Given the description of an element on the screen output the (x, y) to click on. 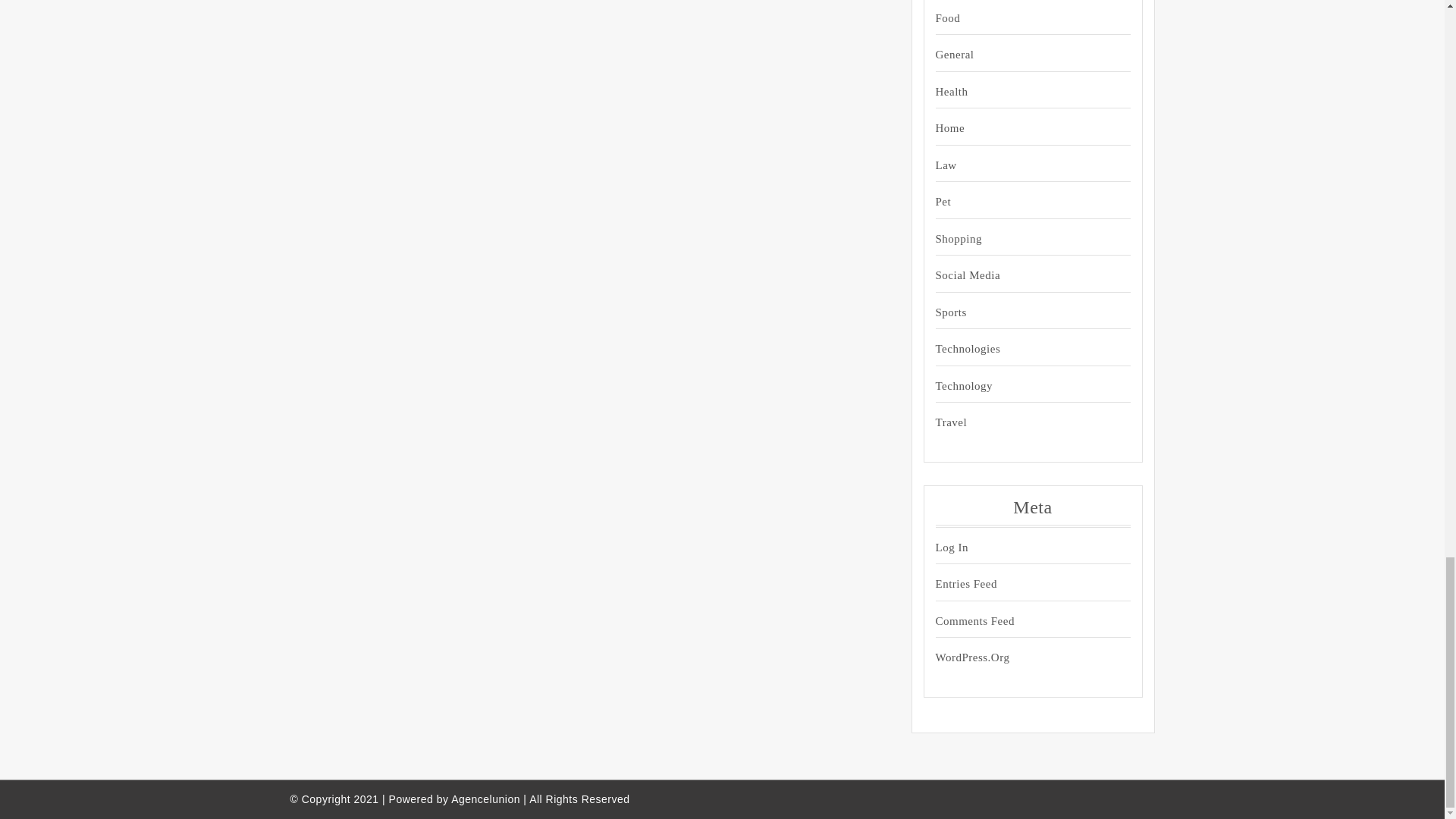
Food (1019, 18)
Shopping (1019, 239)
General (1019, 54)
Health (1019, 91)
Law (1019, 165)
Pet (1019, 201)
Home (1019, 128)
